Given the description of an element on the screen output the (x, y) to click on. 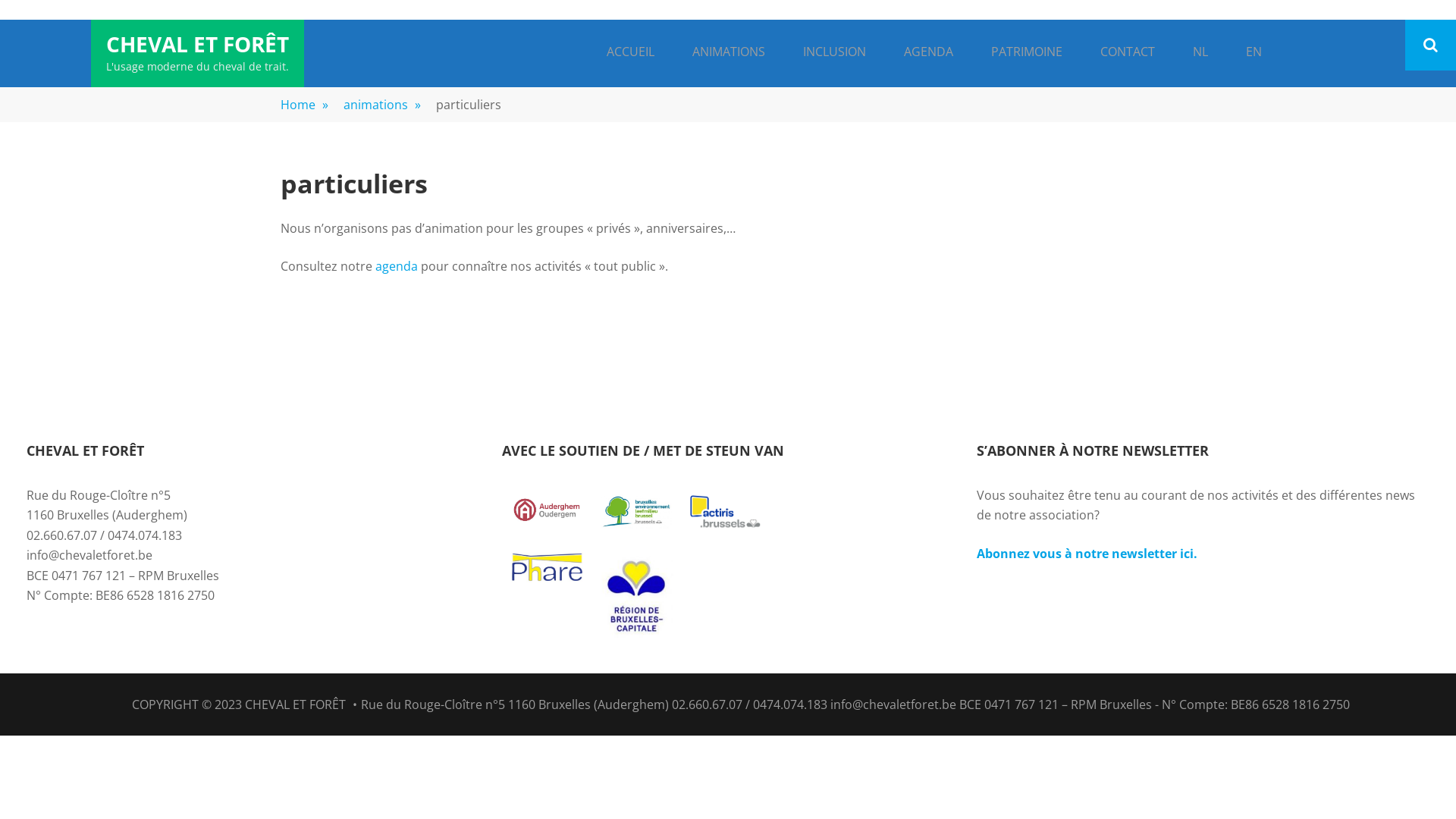
EN Element type: text (1253, 52)
AGENDA Element type: text (928, 52)
Skip to content Element type: text (0, 19)
CONTACT Element type: text (1127, 52)
NL Element type: text (1200, 52)
agenda Element type: text (396, 265)
ACCUEIL Element type: text (630, 52)
ANIMATIONS Element type: text (728, 52)
INCLUSION Element type: text (834, 52)
PATRIMOINE Element type: text (1026, 52)
